Given the description of an element on the screen output the (x, y) to click on. 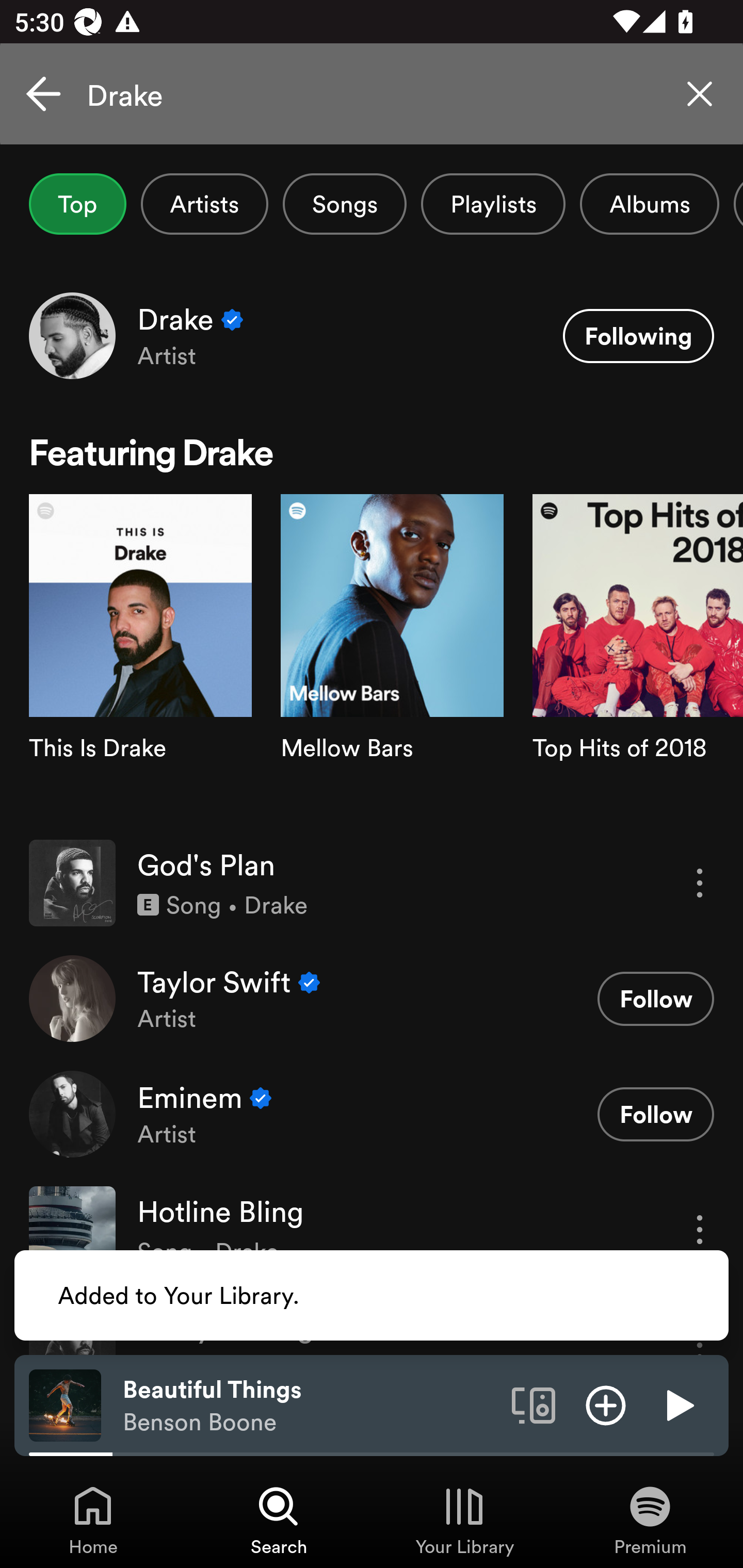
Drake (371, 93)
Cancel (43, 93)
Clear search query (699, 93)
Top (77, 203)
Artists (204, 203)
Songs (344, 203)
Playlists (493, 203)
Albums (649, 203)
Drake Verified Artist Following Unfollow (371, 335)
Following Unfollow (638, 335)
Search card image This Is Drake (139, 658)
Search card image Mellow Bars (391, 658)
Search card image Top Hits of 2018 (637, 658)
More options for song God's Plan (699, 883)
Taylor Swift Verified Artist Follow Follow (371, 998)
Follow (655, 998)
Eminem Verified Artist Follow Follow (371, 1113)
Follow (655, 1113)
More options for song Hotline Bling (699, 1229)
Beautiful Things Benson Boone (309, 1405)
The cover art of the currently playing track (64, 1404)
Connect to a device. Opens the devices menu (533, 1404)
Add item (605, 1404)
Play (677, 1404)
Home, Tab 1 of 4 Home Home (92, 1519)
Search, Tab 2 of 4 Search Search (278, 1519)
Your Library, Tab 3 of 4 Your Library Your Library (464, 1519)
Premium, Tab 4 of 4 Premium Premium (650, 1519)
